Given the description of an element on the screen output the (x, y) to click on. 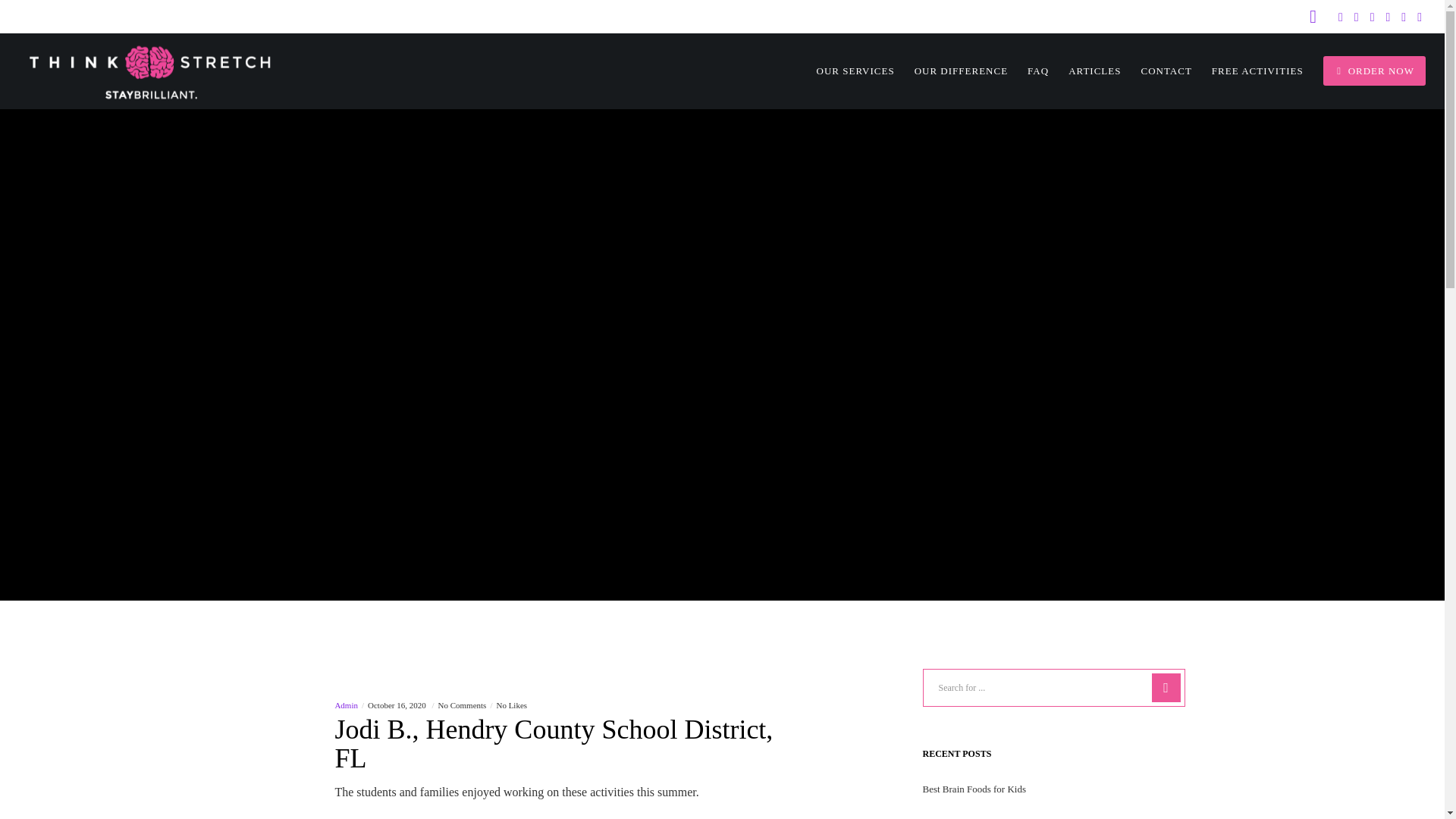
ARTICLES (1084, 70)
FREE ACTIVITIES (1247, 70)
Jodi B., Hendry County School District, FL (571, 751)
ORDER NOW (1364, 70)
Admin (346, 705)
OUR SERVICES (845, 70)
OUR DIFFERENCE (951, 70)
CONTACT (1156, 70)
